Given the description of an element on the screen output the (x, y) to click on. 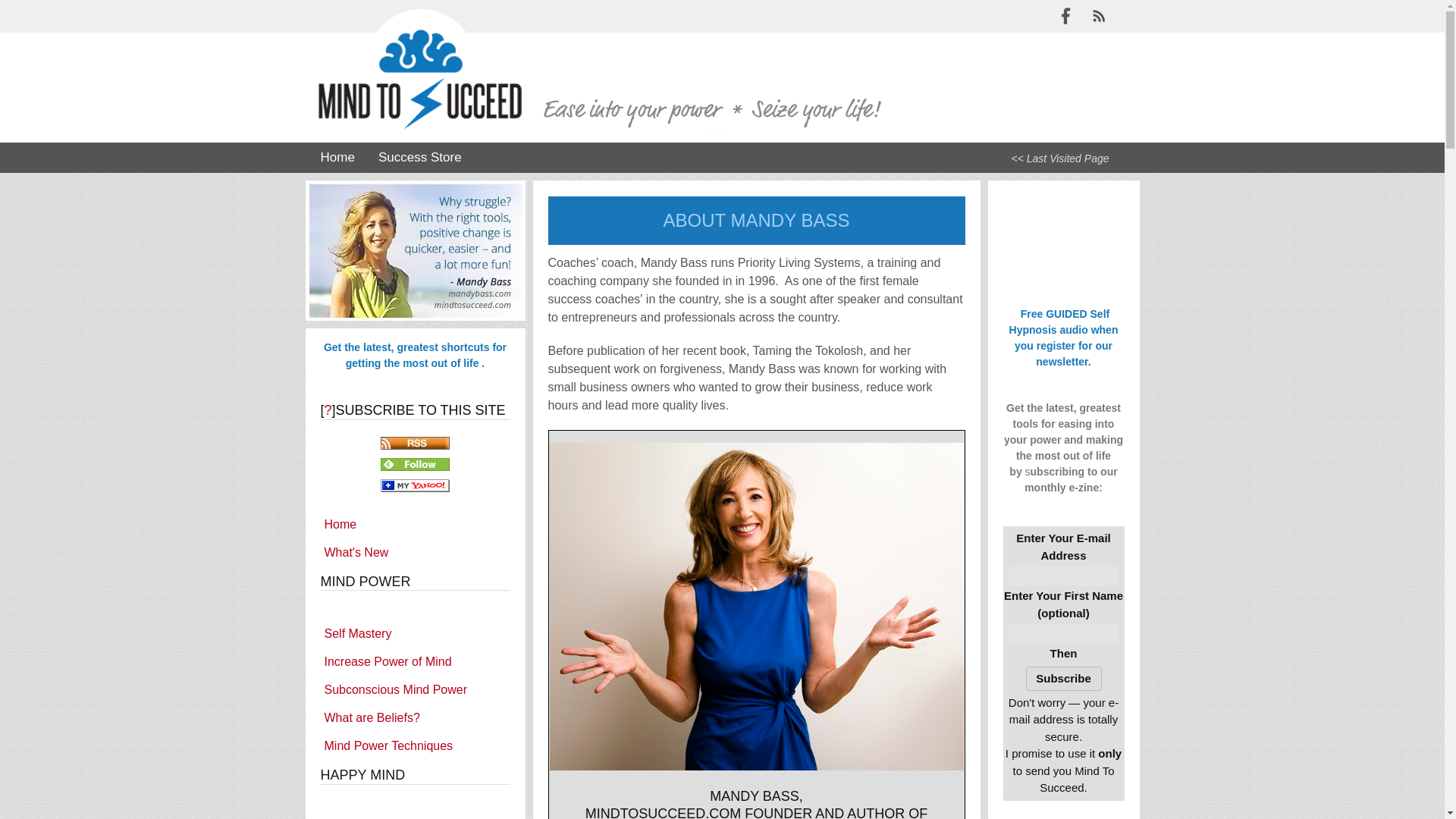
Power of Positive Thinking (414, 816)
What's New (414, 552)
Subconscious Mind Power (414, 689)
Self Mastery (414, 633)
Advertisement (1063, 242)
What are Beliefs? (414, 718)
Home (414, 524)
Increase Power of Mind (414, 661)
Success Store (419, 156)
Home (336, 156)
Mind Power Techniques (414, 746)
Subscribe (1062, 677)
